Given the description of an element on the screen output the (x, y) to click on. 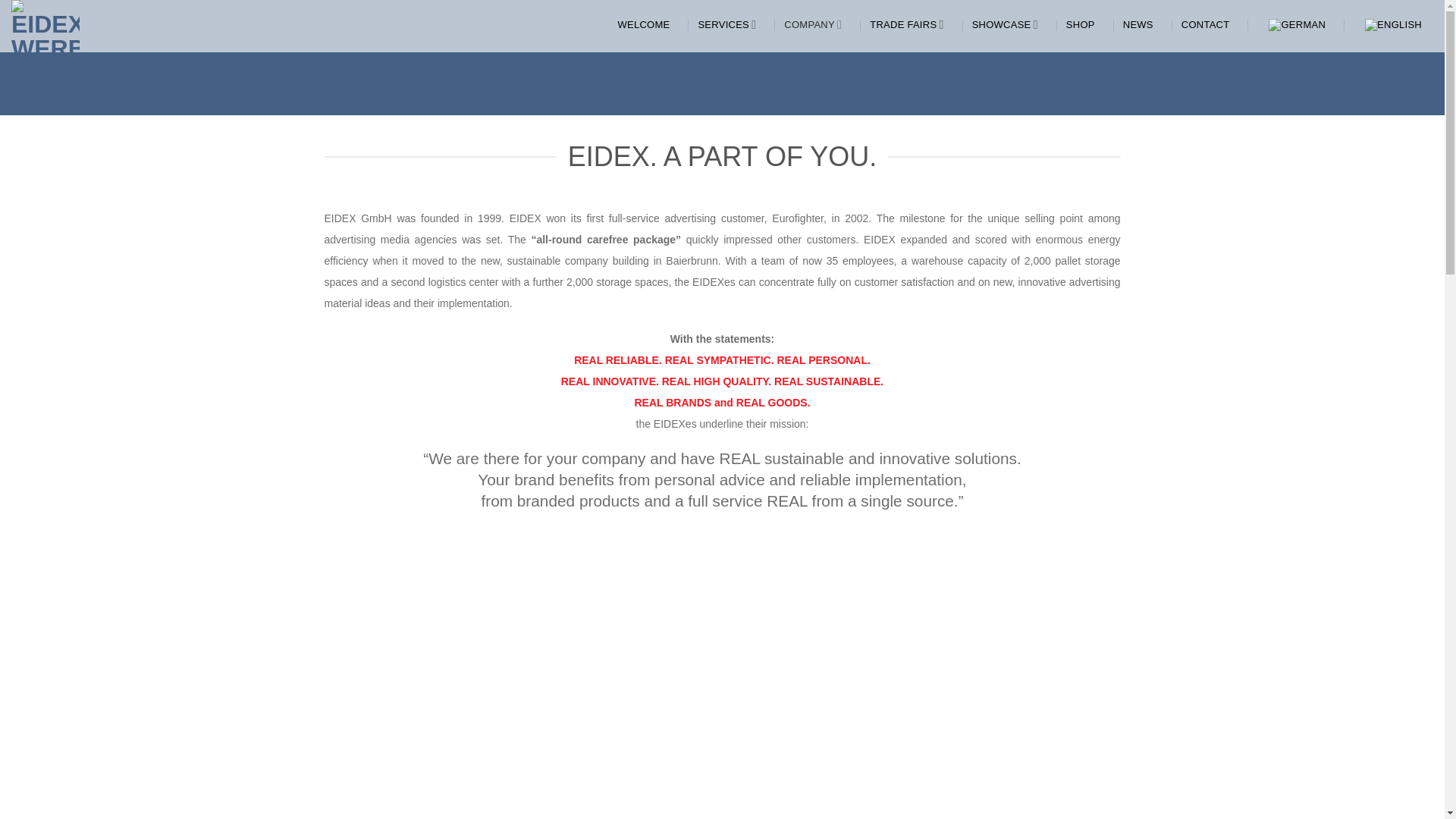
COMPANY (818, 24)
EIDEX - Werbemittel Fullservice (71, 26)
SHOP (1085, 24)
SERVICES (732, 24)
WELCOME (649, 24)
NEWS (1143, 24)
TRADE FAIRS (912, 24)
CONTACT (1210, 24)
SHOWCASE (1010, 24)
